Given the description of an element on the screen output the (x, y) to click on. 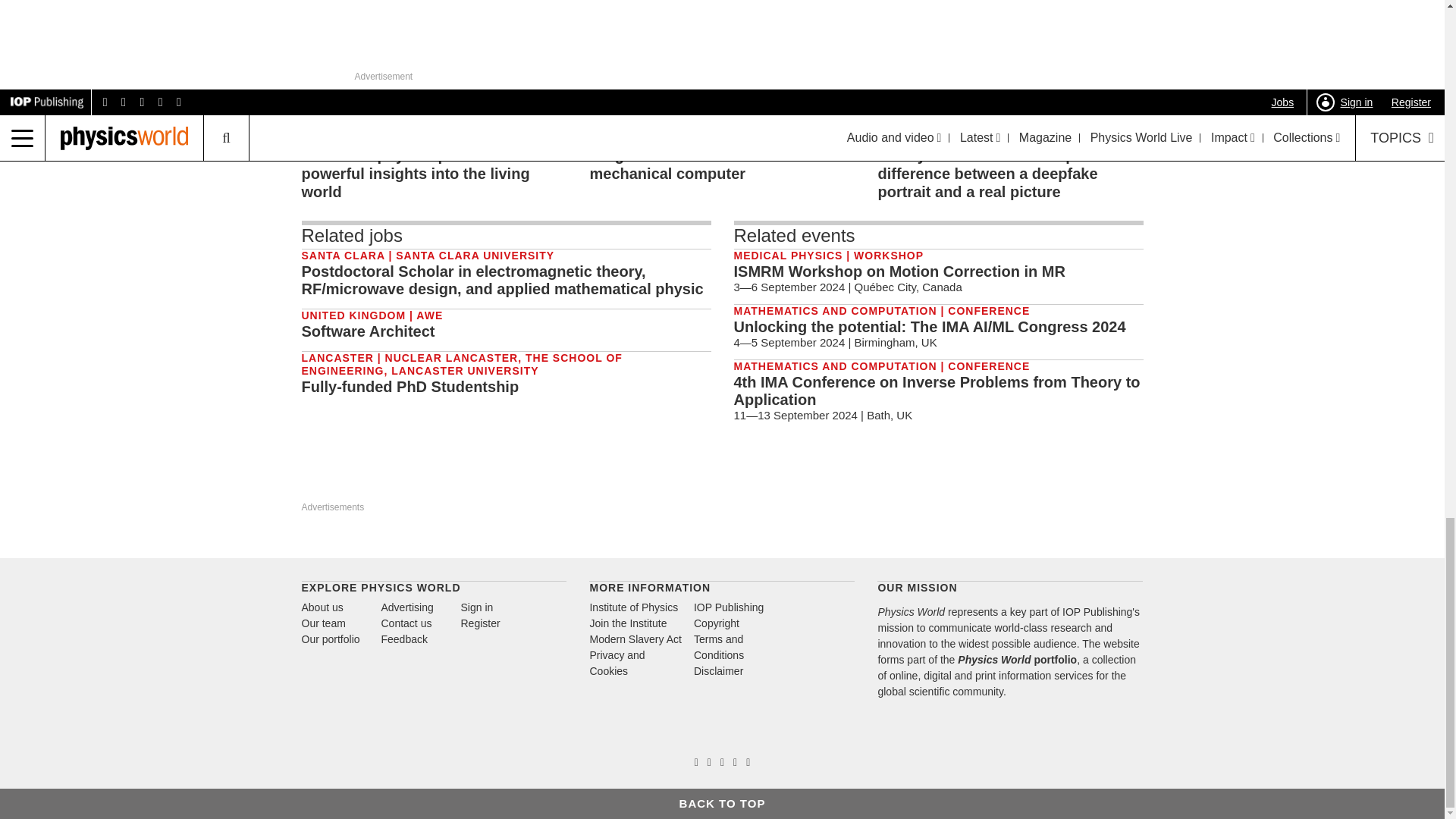
3rd party ad content (793, 478)
3rd party ad content (650, 478)
3rd party ad content (1080, 478)
3rd party ad content (936, 478)
3rd party ad content (507, 478)
3rd party ad content (363, 478)
